Given the description of an element on the screen output the (x, y) to click on. 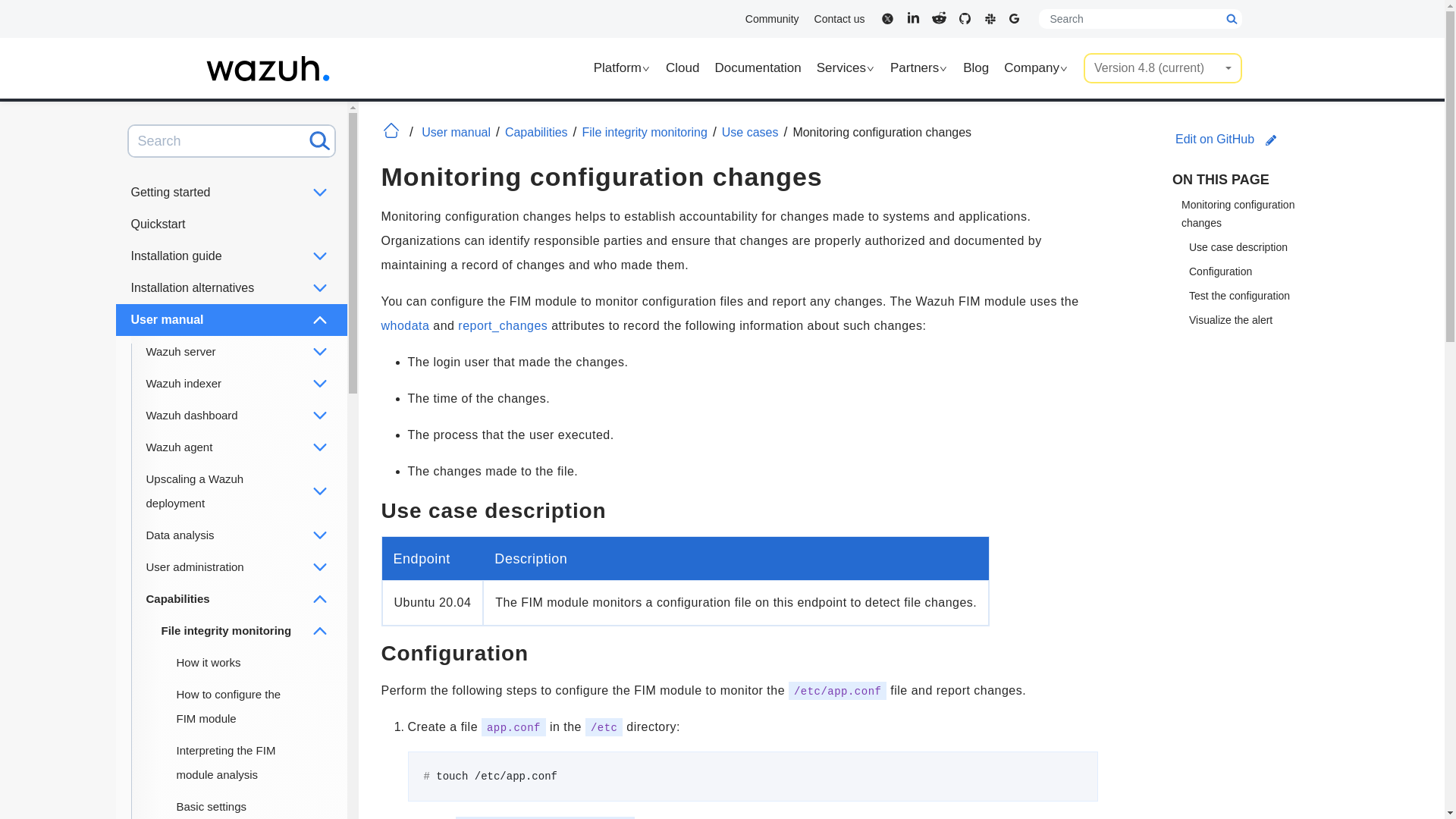
Join us on Slack (988, 17)
Mailing list (1014, 17)
Community (772, 18)
LinkedIn (911, 17)
Wazuh on X (885, 17)
Wazuh on Reddit (937, 17)
Wazuh on Github (962, 17)
X (885, 17)
GitHub (962, 17)
Platform (622, 68)
Blog (975, 68)
Slack (988, 17)
Cloud (682, 68)
Company (1035, 68)
Contact us (838, 18)
